Given the description of an element on the screen output the (x, y) to click on. 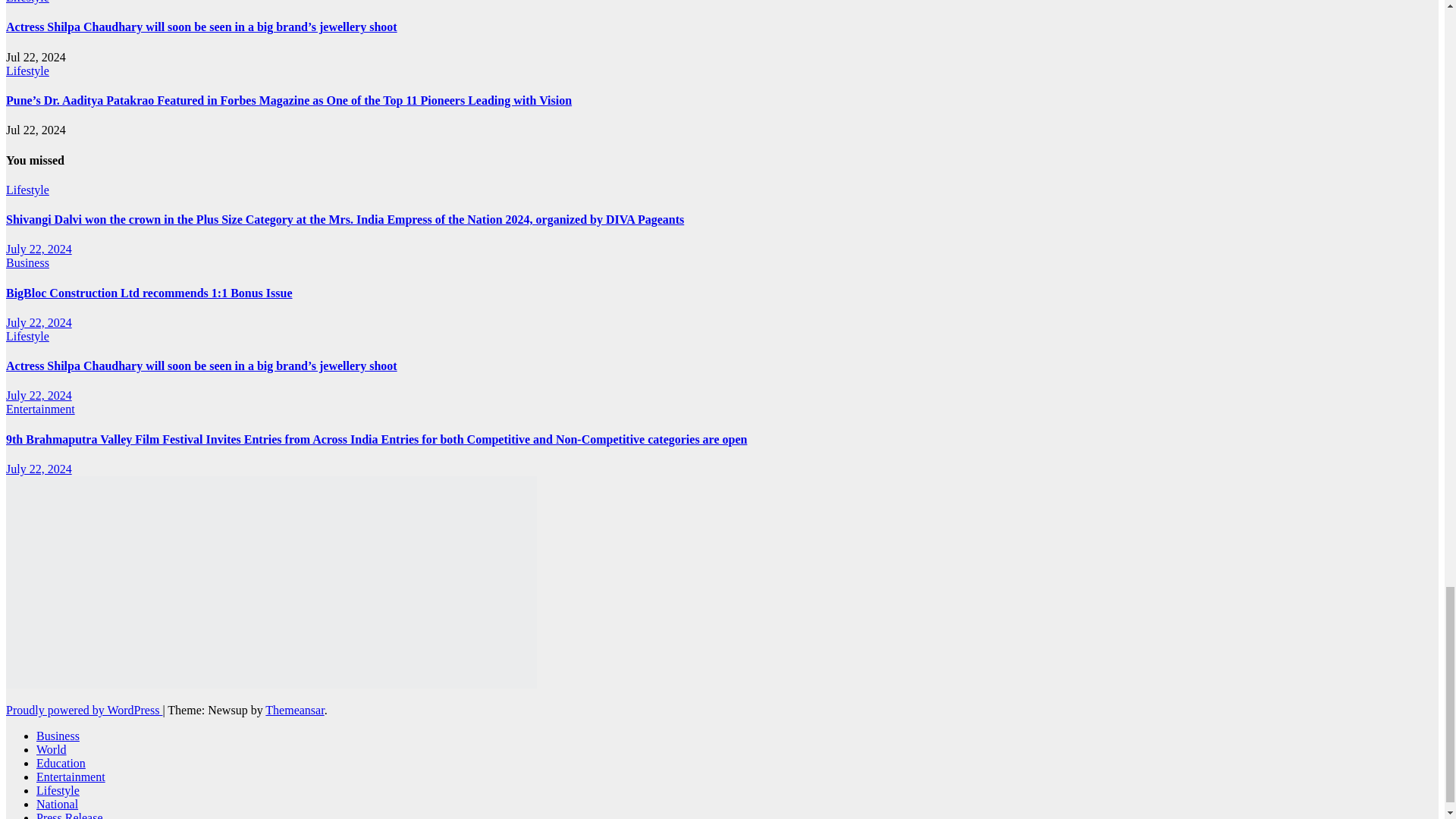
Lifestyle (27, 2)
